Given the description of an element on the screen output the (x, y) to click on. 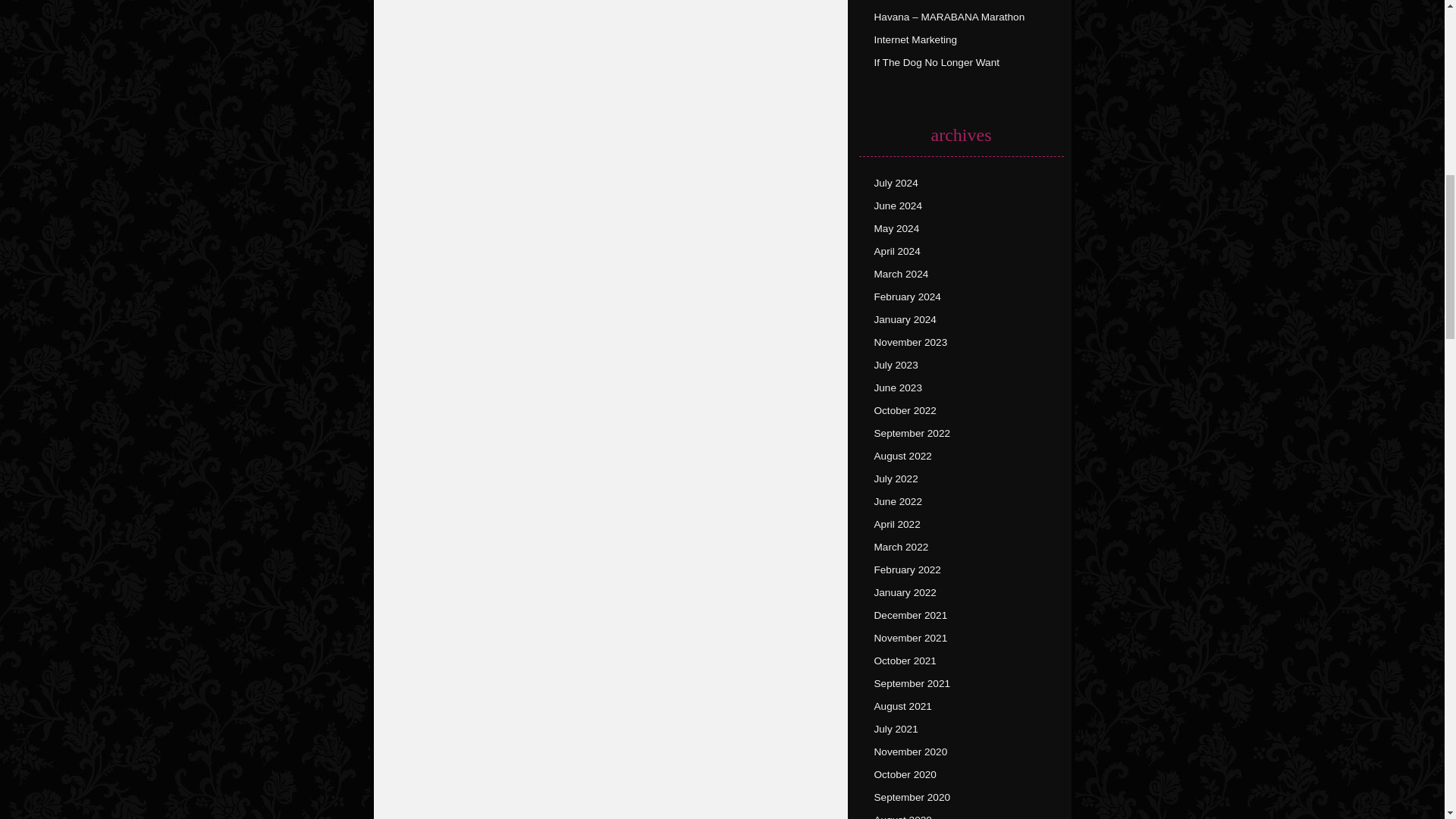
October 2022 (904, 410)
April 2022 (896, 523)
July 2021 (895, 728)
September 2021 (911, 683)
September 2022 (911, 432)
January 2022 (904, 592)
Internet Marketing (914, 39)
April 2024 (896, 251)
June 2023 (897, 387)
January 2024 (904, 319)
July 2024 (895, 183)
December 2021 (910, 614)
March 2024 (900, 274)
June 2024 (897, 205)
July 2023 (895, 365)
